Given the description of an element on the screen output the (x, y) to click on. 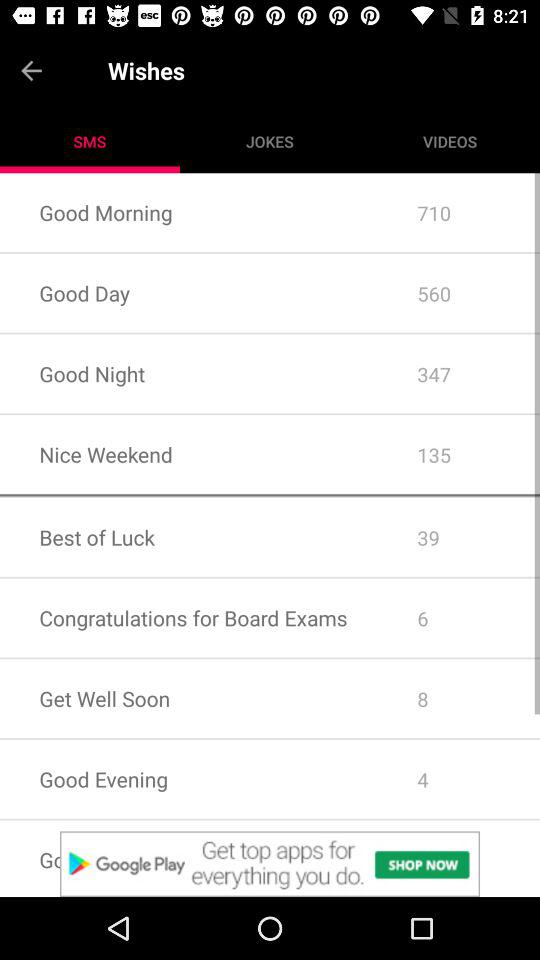
select app next to get well soon item (458, 779)
